Given the description of an element on the screen output the (x, y) to click on. 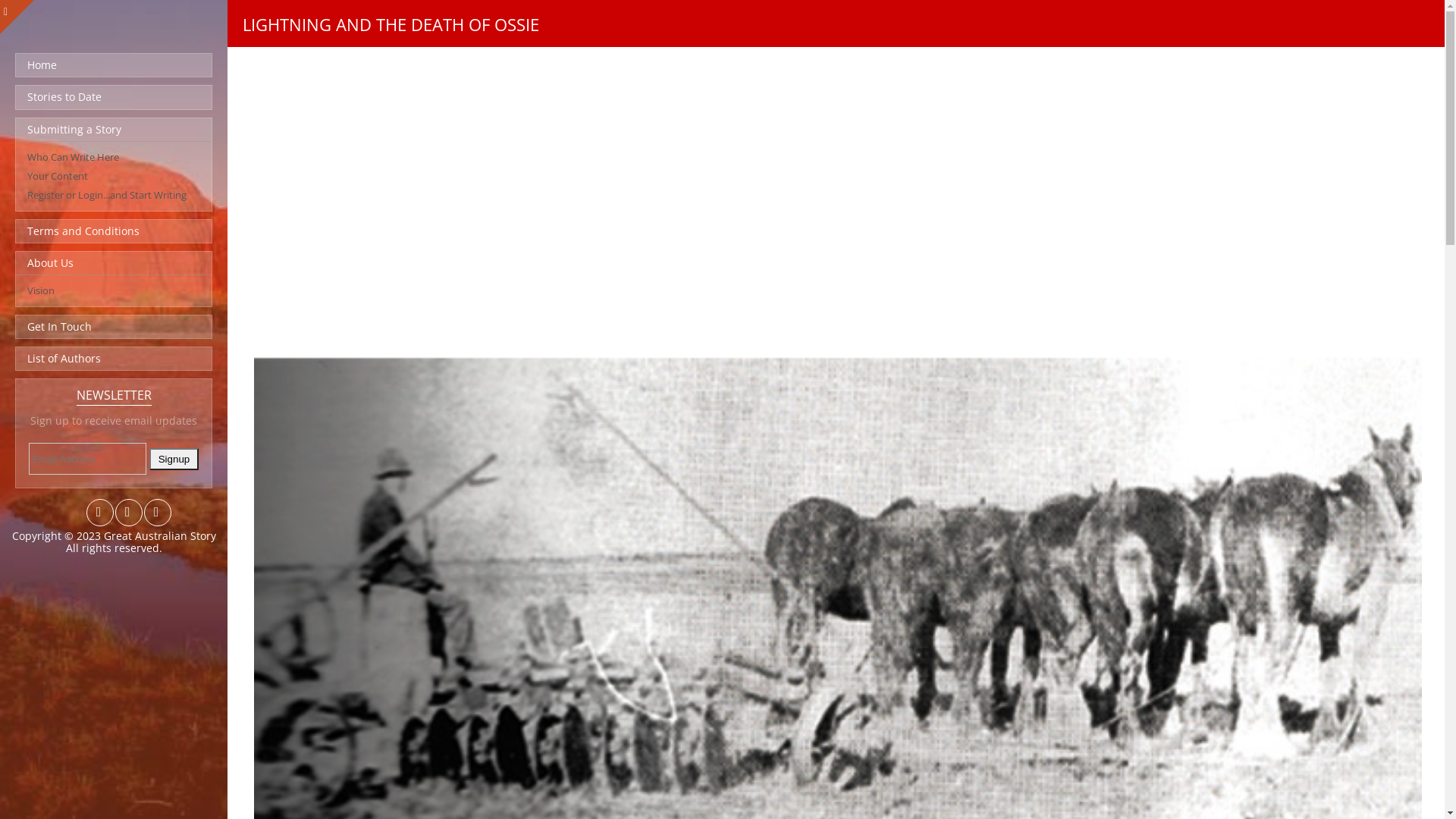
List of Authors Element type: text (113, 358)
Get In Touch Element type: text (113, 326)
Google Plus Element type: hover (155, 516)
Skip to main content Element type: text (674, 1)
Home Element type: text (113, 64)
Terms and Conditions Element type: text (113, 230)
Twitter Element type: hover (98, 516)
Who Can Write Here Element type: text (72, 156)
Facebook Element type: hover (127, 516)
Vision Element type: text (40, 290)
About Us Element type: text (113, 262)
Great Australian Story Element type: text (159, 535)
Register or Login...and Start Writing Element type: text (106, 194)
Signup Element type: text (174, 459)
Your Content Element type: text (57, 175)
Submitting a Story Element type: text (113, 129)
Stories to Date Element type: text (113, 96)
